Given the description of an element on the screen output the (x, y) to click on. 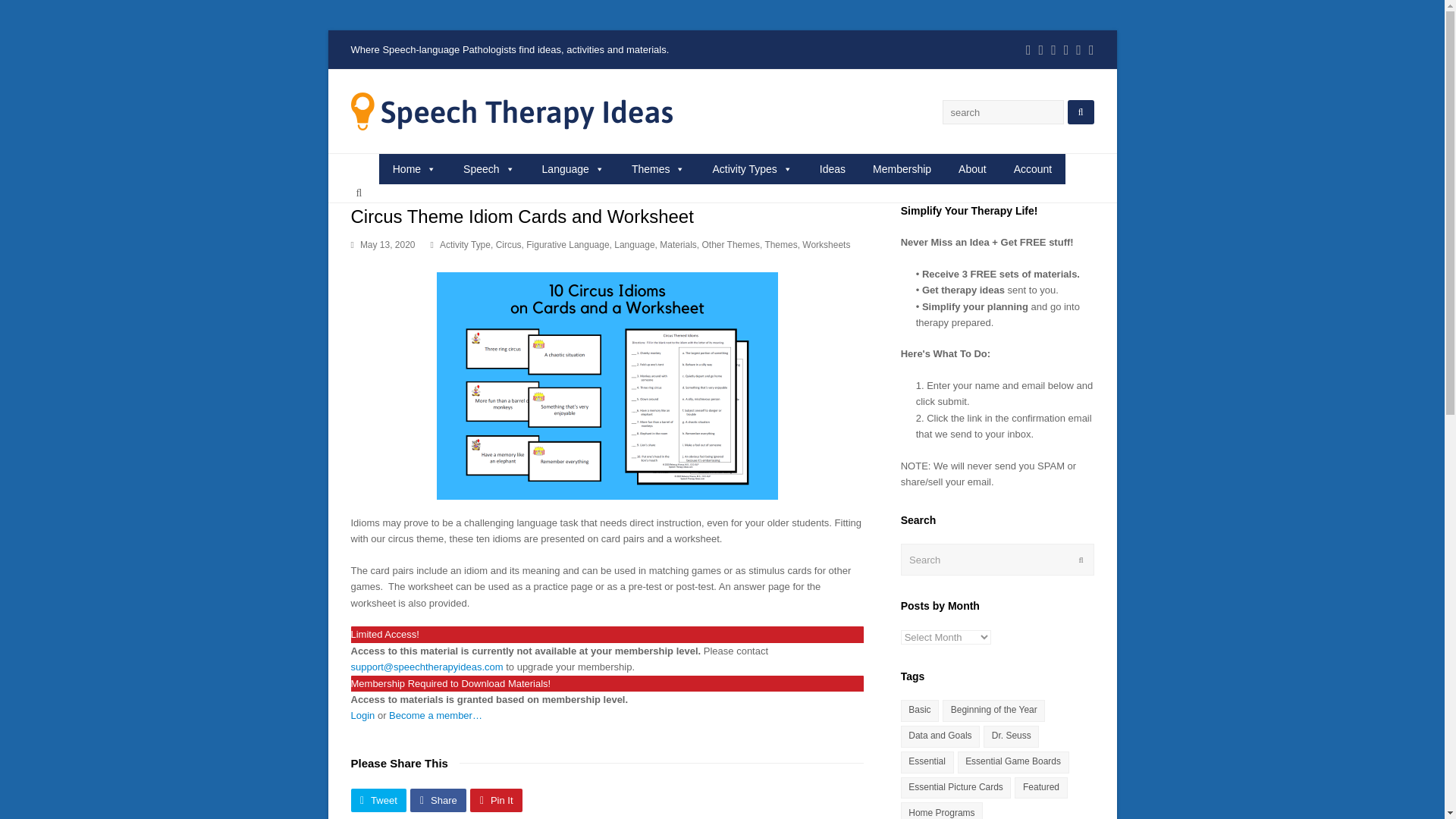
Materials (678, 244)
Speech (488, 168)
Speech Therapy Ideas (510, 111)
Themes (780, 244)
search (1002, 111)
Language (633, 244)
Home (413, 168)
search (1002, 111)
Figurative Language (566, 244)
Share on Twitter (378, 800)
